Given the description of an element on the screen output the (x, y) to click on. 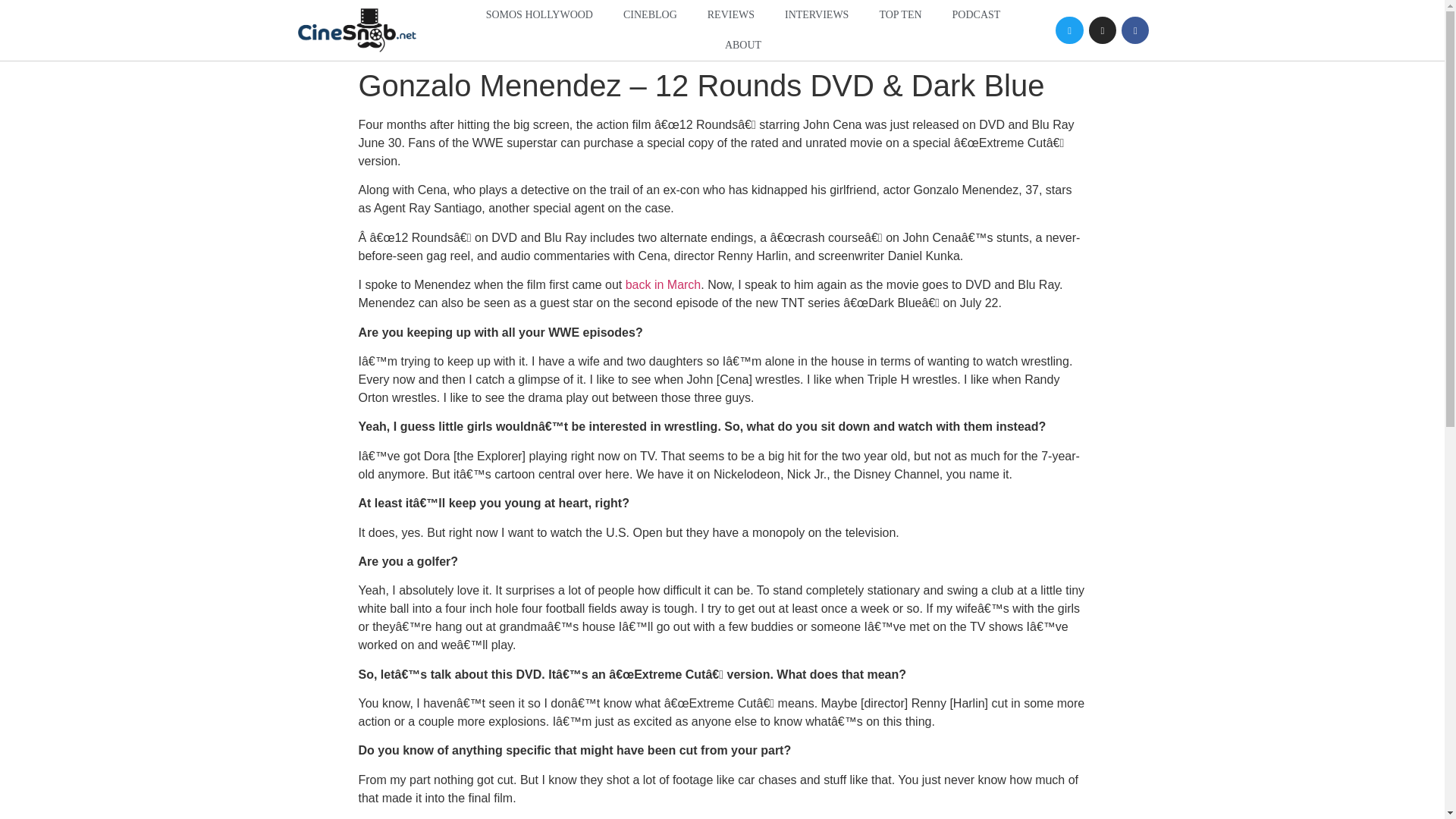
CINEBLOG (650, 15)
ABOUT (743, 45)
back in March (663, 284)
REVIEWS (731, 15)
TOP TEN (899, 15)
PODCAST (976, 15)
SOMOS HOLLYWOOD (539, 15)
INTERVIEWS (816, 15)
